Given the description of an element on the screen output the (x, y) to click on. 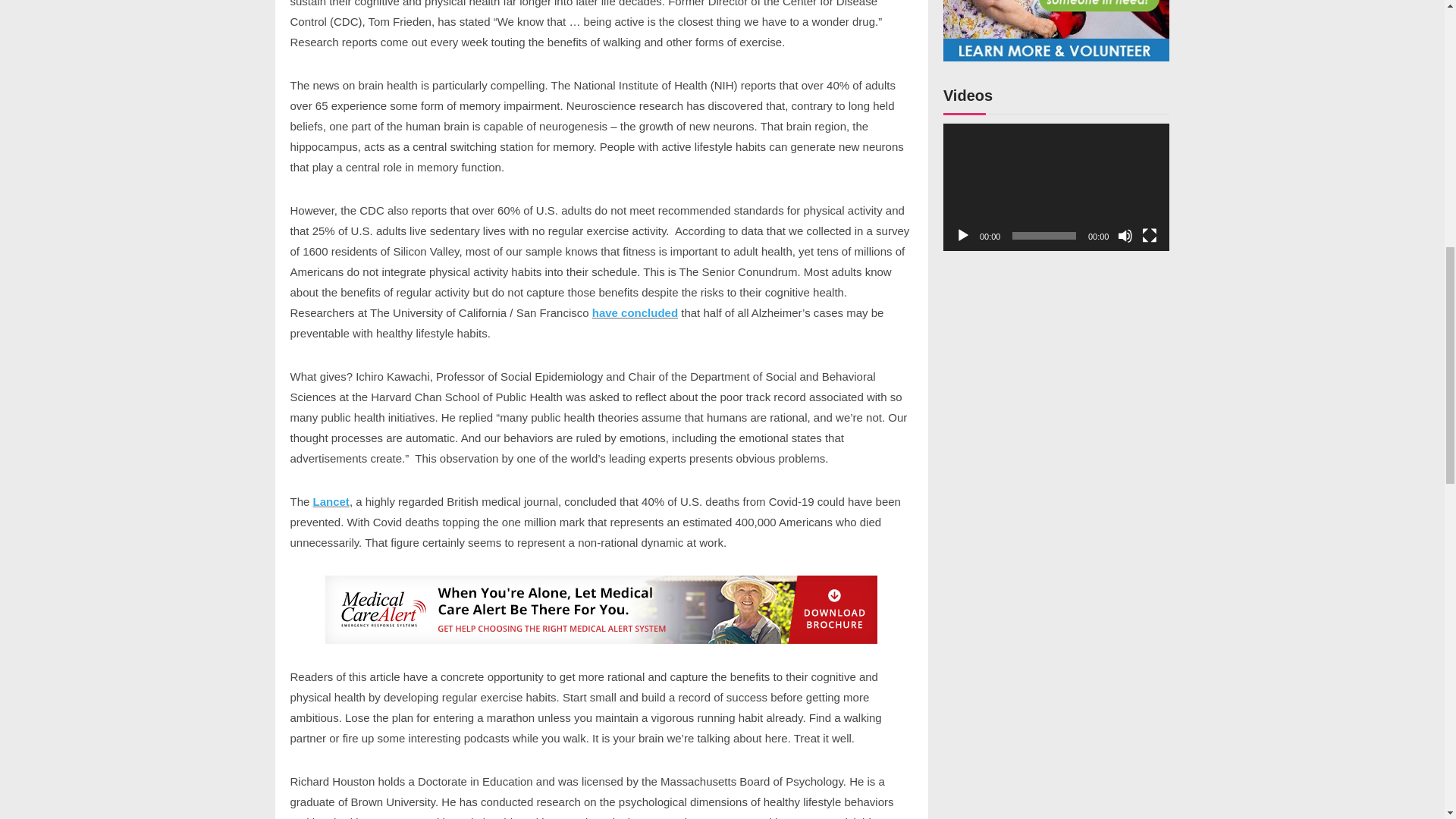
Fullscreen (1149, 235)
Play (963, 235)
Mute (1125, 235)
